Given the description of an element on the screen output the (x, y) to click on. 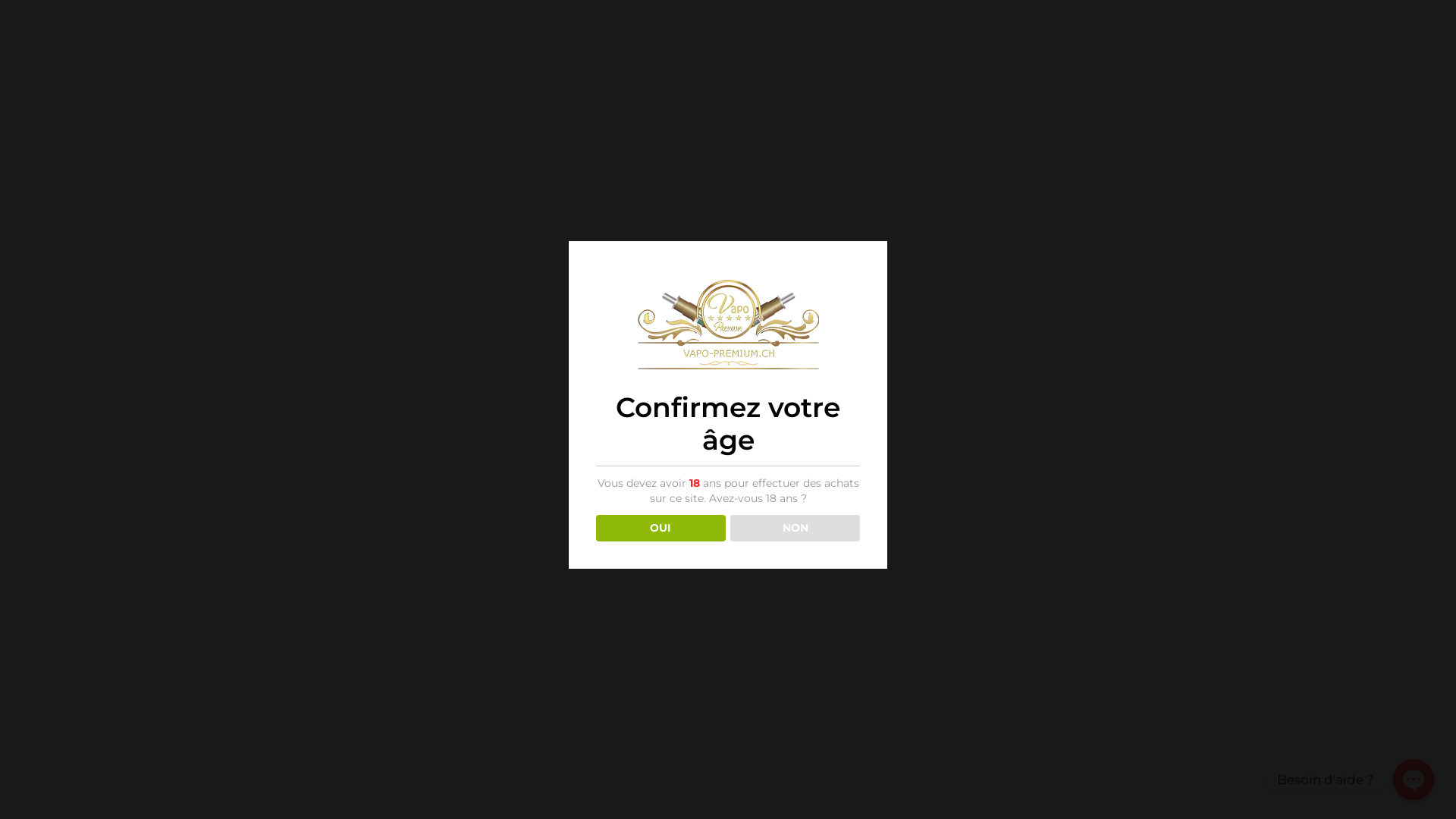
NON Element type: text (794, 527)
OUI Element type: text (660, 527)
